Given the description of an element on the screen output the (x, y) to click on. 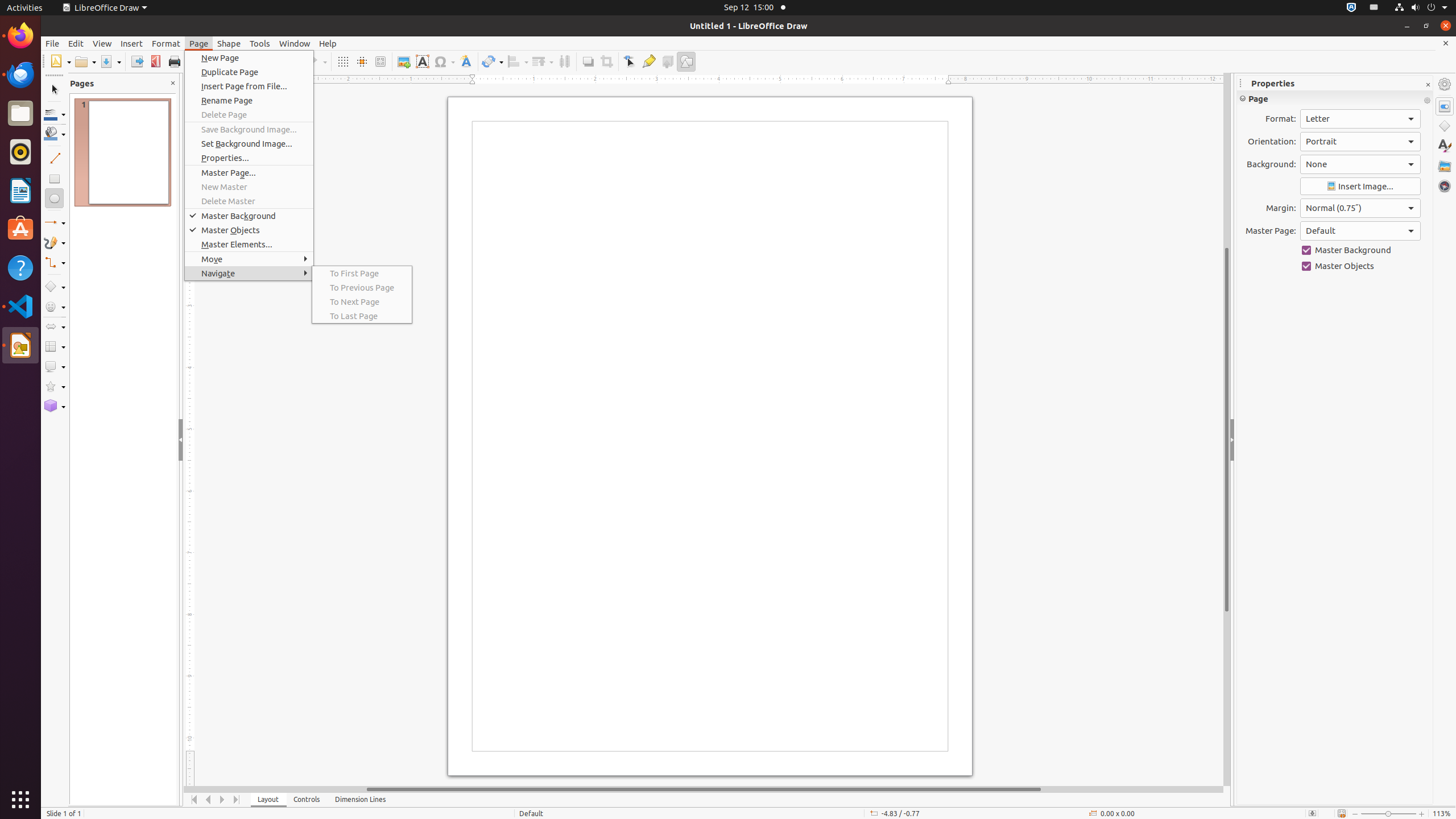
Crop Element type: push-button (606, 61)
Controls Element type: page-tab (307, 799)
Print Element type: push-button (173, 61)
Edit Points Element type: push-button (629, 61)
